Given the description of an element on the screen output the (x, y) to click on. 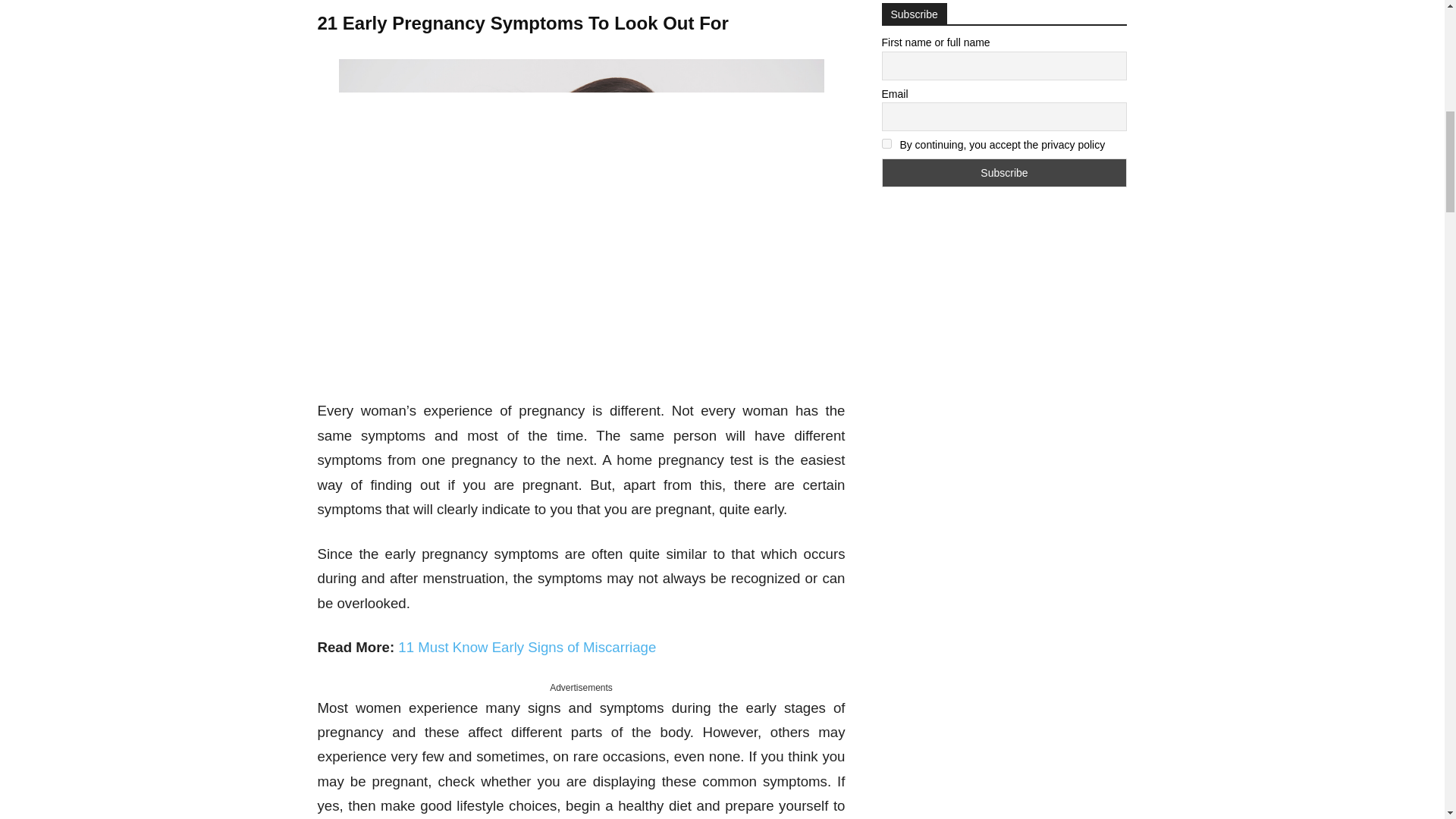
Subscribe (1003, 172)
on (885, 143)
Permanent Link to 11 Must Know Early Signs of Miscarriage (526, 647)
